Given the description of an element on the screen output the (x, y) to click on. 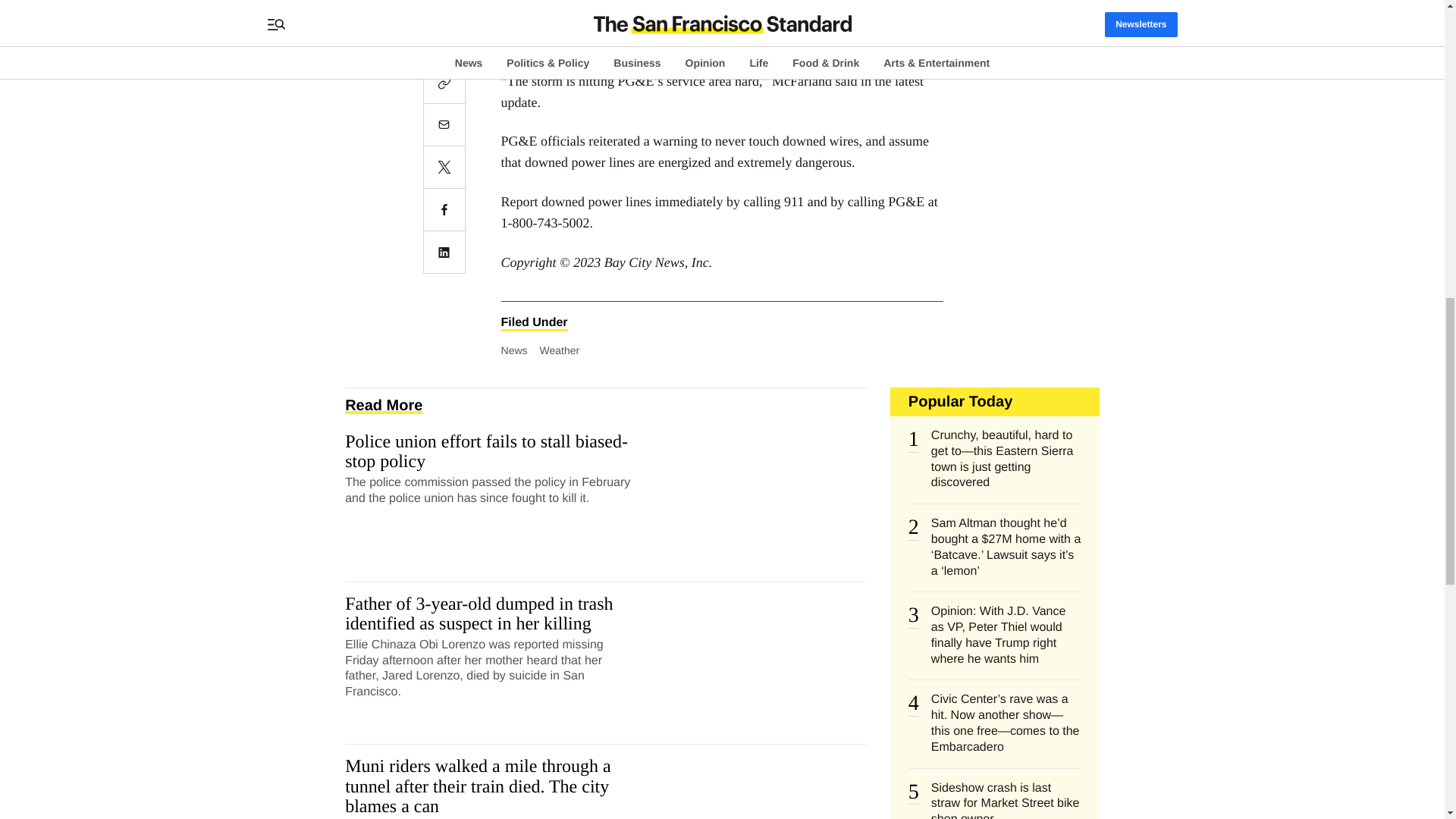
News (513, 350)
Weather (559, 350)
